Given the description of an element on the screen output the (x, y) to click on. 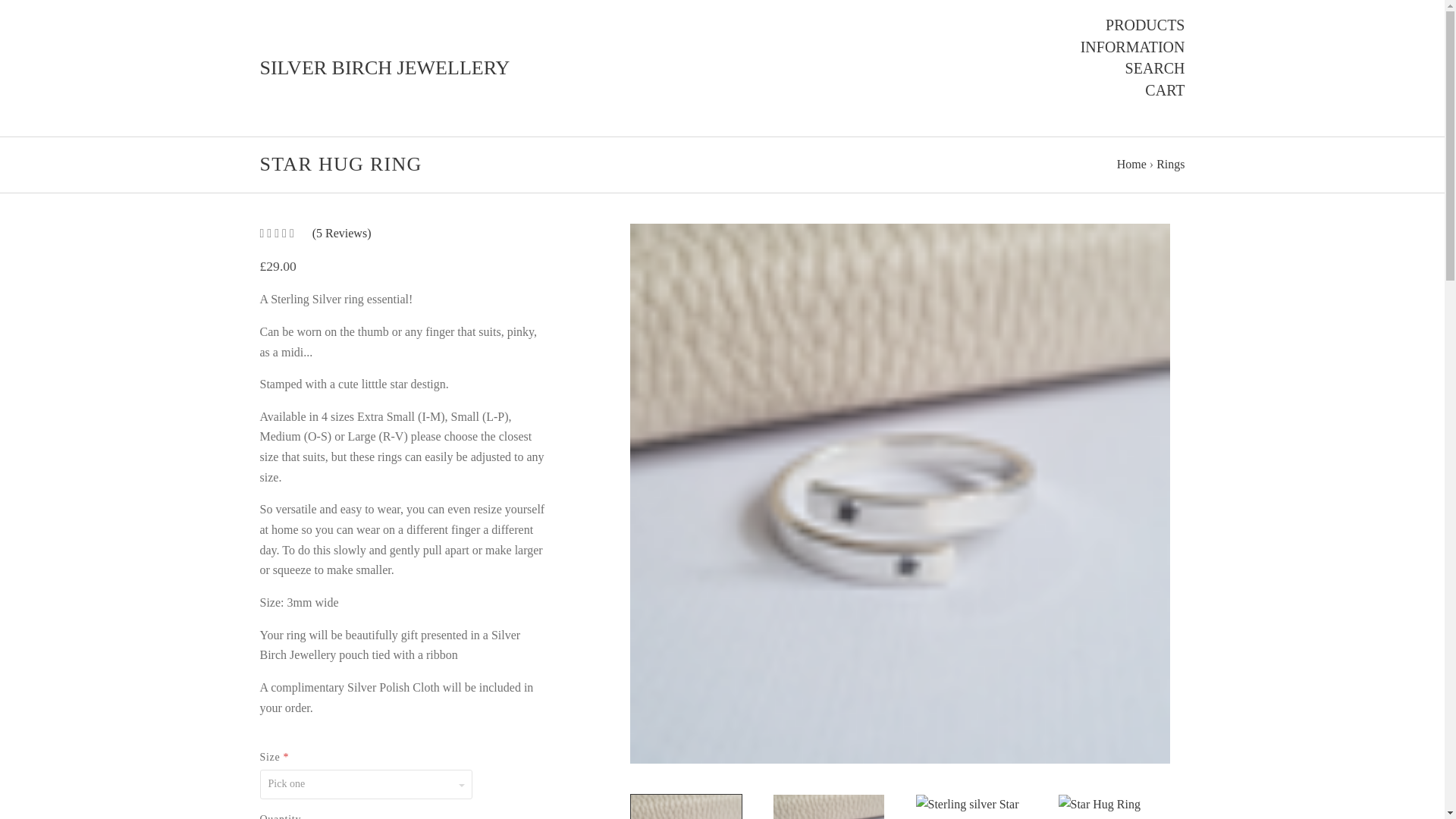
CART (1164, 89)
Star Hug Ring (1113, 806)
PRODUCTS (1145, 25)
INFORMATION (1132, 46)
Home (1131, 164)
SILVER BIRCH JEWELLERY (384, 68)
Sterling silver Star Hug Ring (828, 806)
Rings (1170, 164)
Sterling silver Star Hug Ring (685, 806)
